Given the description of an element on the screen output the (x, y) to click on. 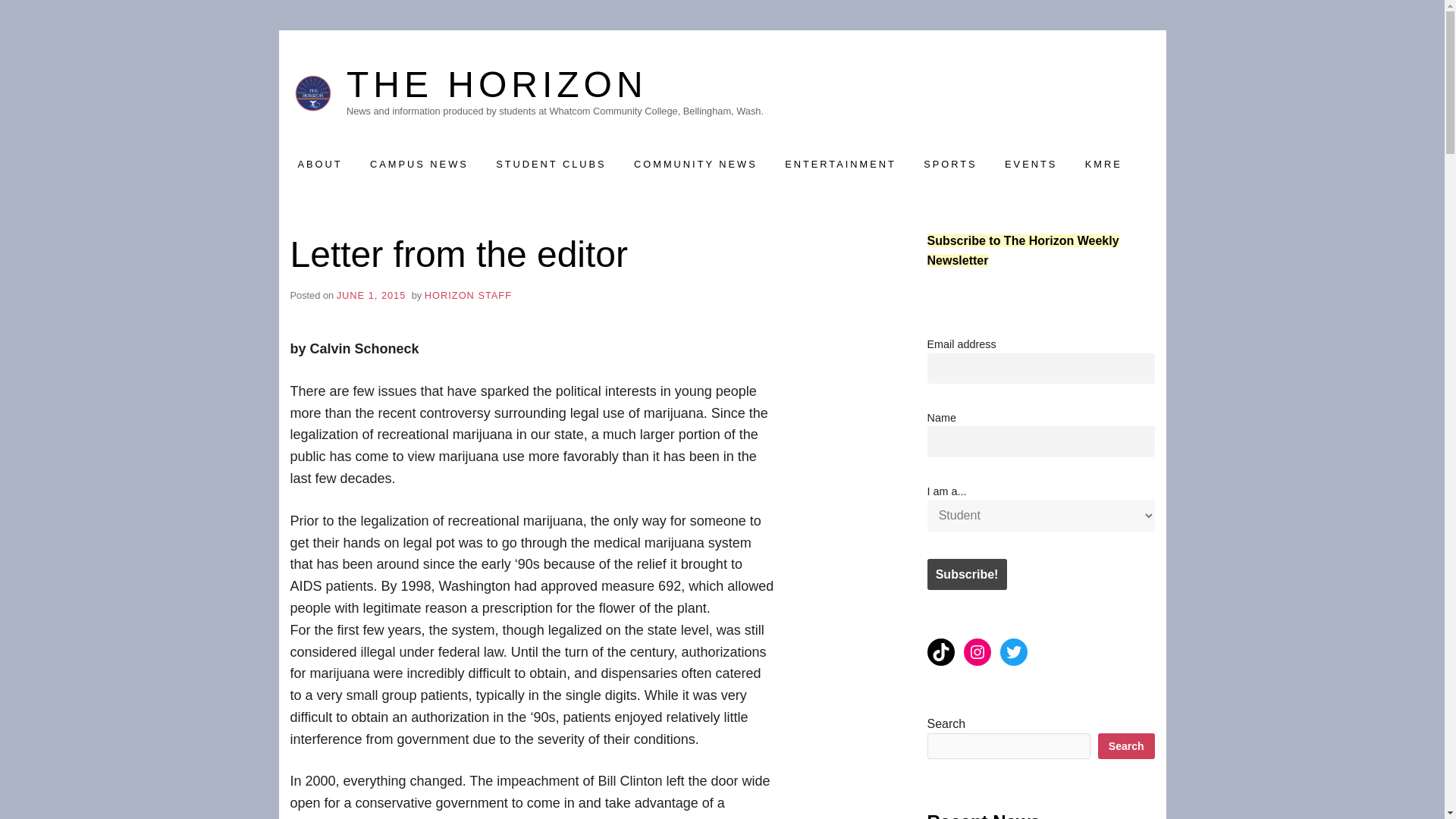
ENTERTAINMENT (840, 163)
COMMUNITY NEWS (695, 163)
Subscribe! (966, 573)
SPORTS (949, 163)
Search (1125, 746)
Instagram (976, 651)
JUNE 1, 2015 (371, 295)
CAMPUS NEWS (419, 163)
STUDENT CLUBS (549, 163)
HORIZON STAFF (468, 295)
EVENTS (1030, 163)
Subscribe! (966, 573)
THE HORIZON (554, 84)
Twitter (1012, 651)
